Given the description of an element on the screen output the (x, y) to click on. 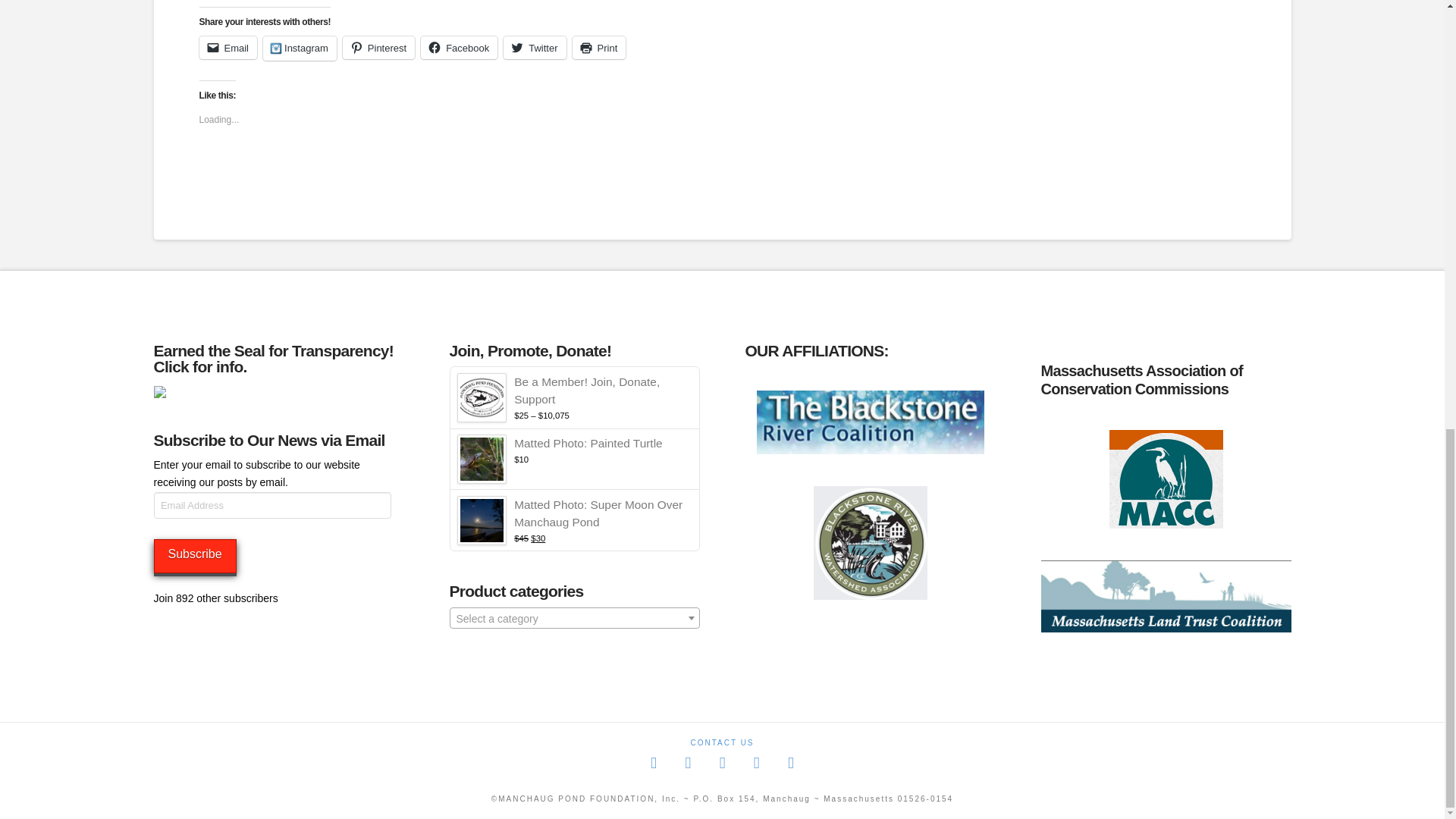
Click to share on Pinterest (378, 47)
Click to share on Facebook (458, 47)
Click to share on Twitter (534, 47)
Click to print (599, 47)
Click to share on Instagram (299, 48)
Click to email a link to a friend (227, 47)
